Given the description of an element on the screen output the (x, y) to click on. 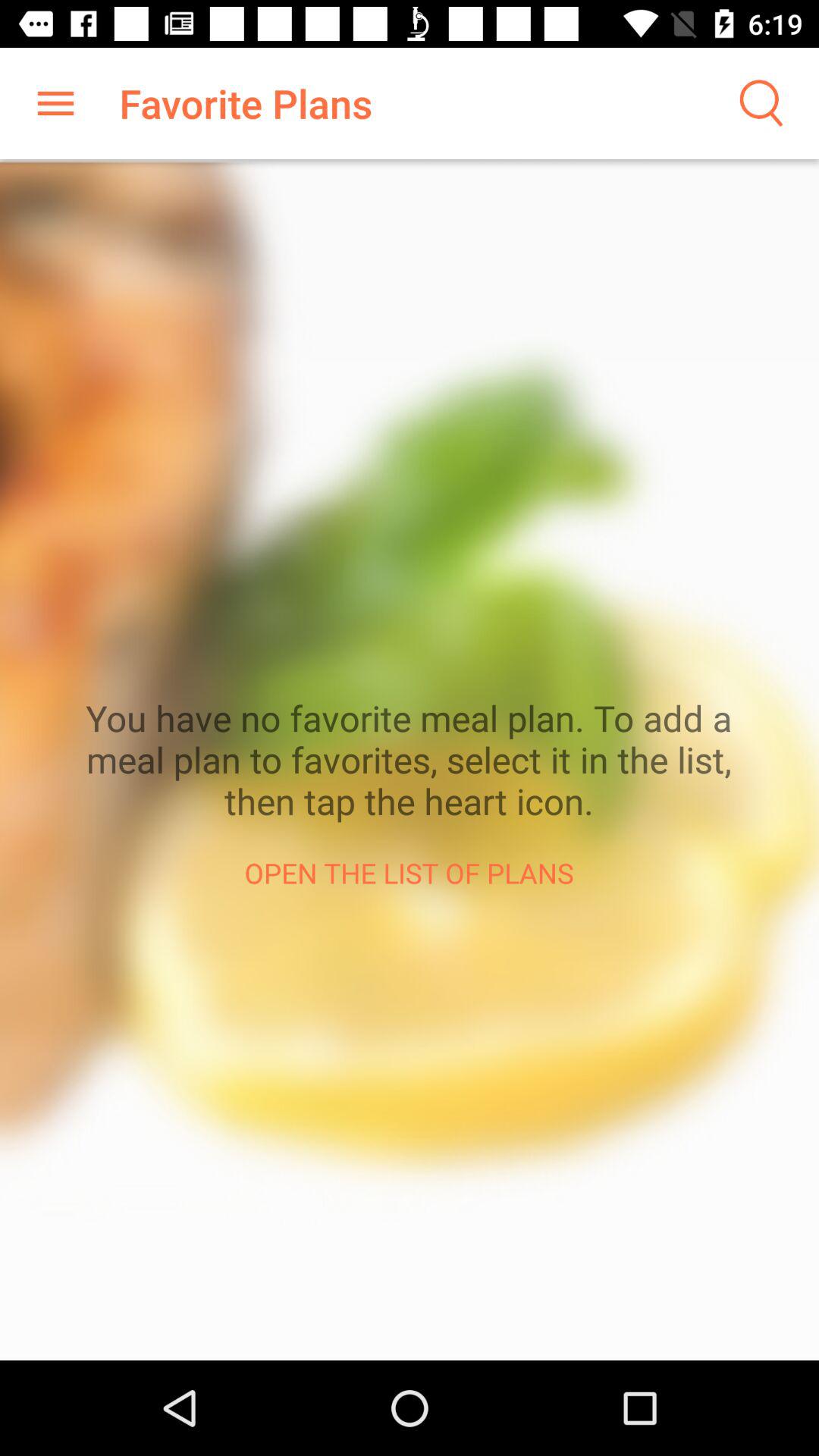
search (759, 103)
